Given the description of an element on the screen output the (x, y) to click on. 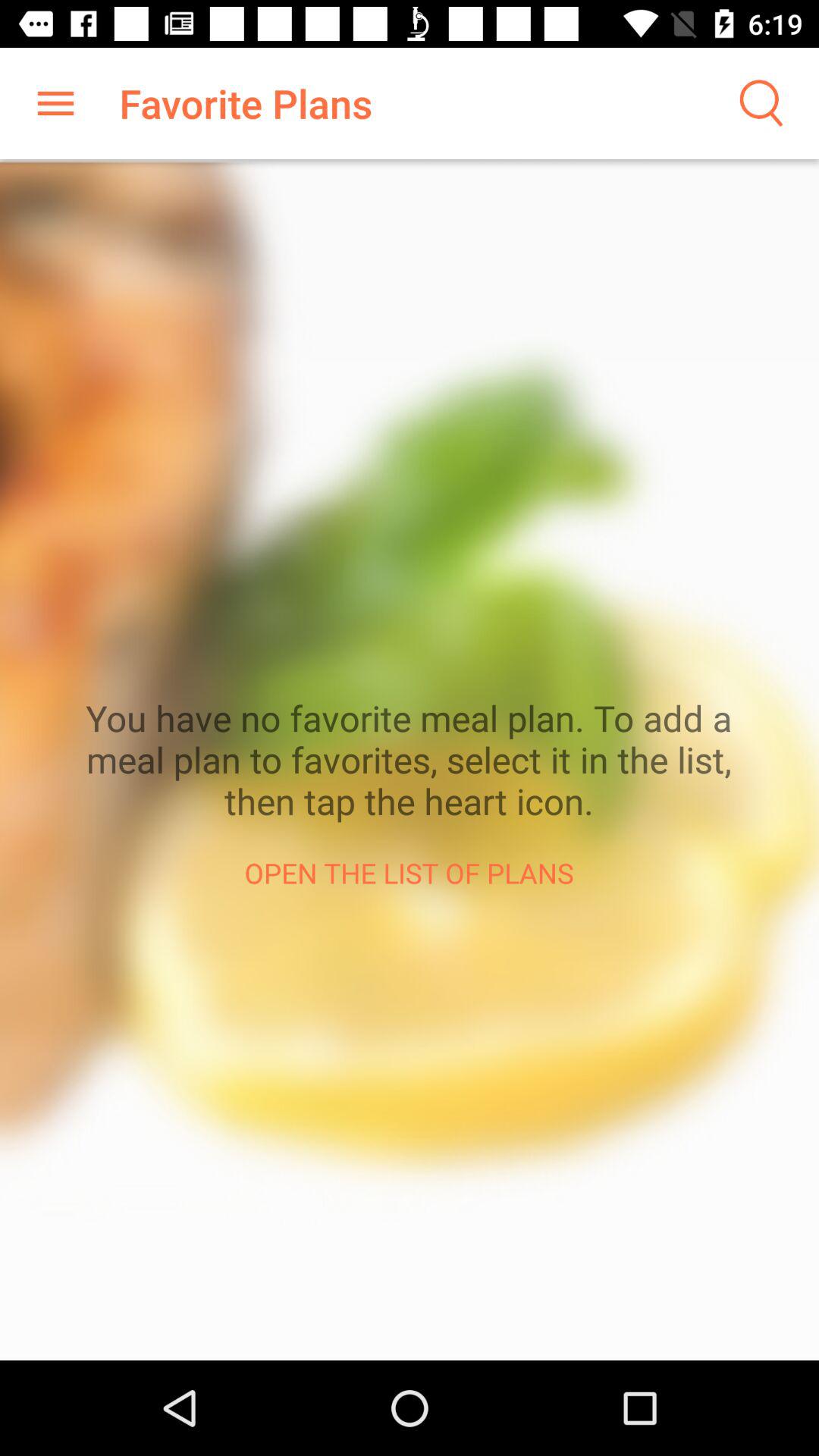
search (759, 103)
